Given the description of an element on the screen output the (x, y) to click on. 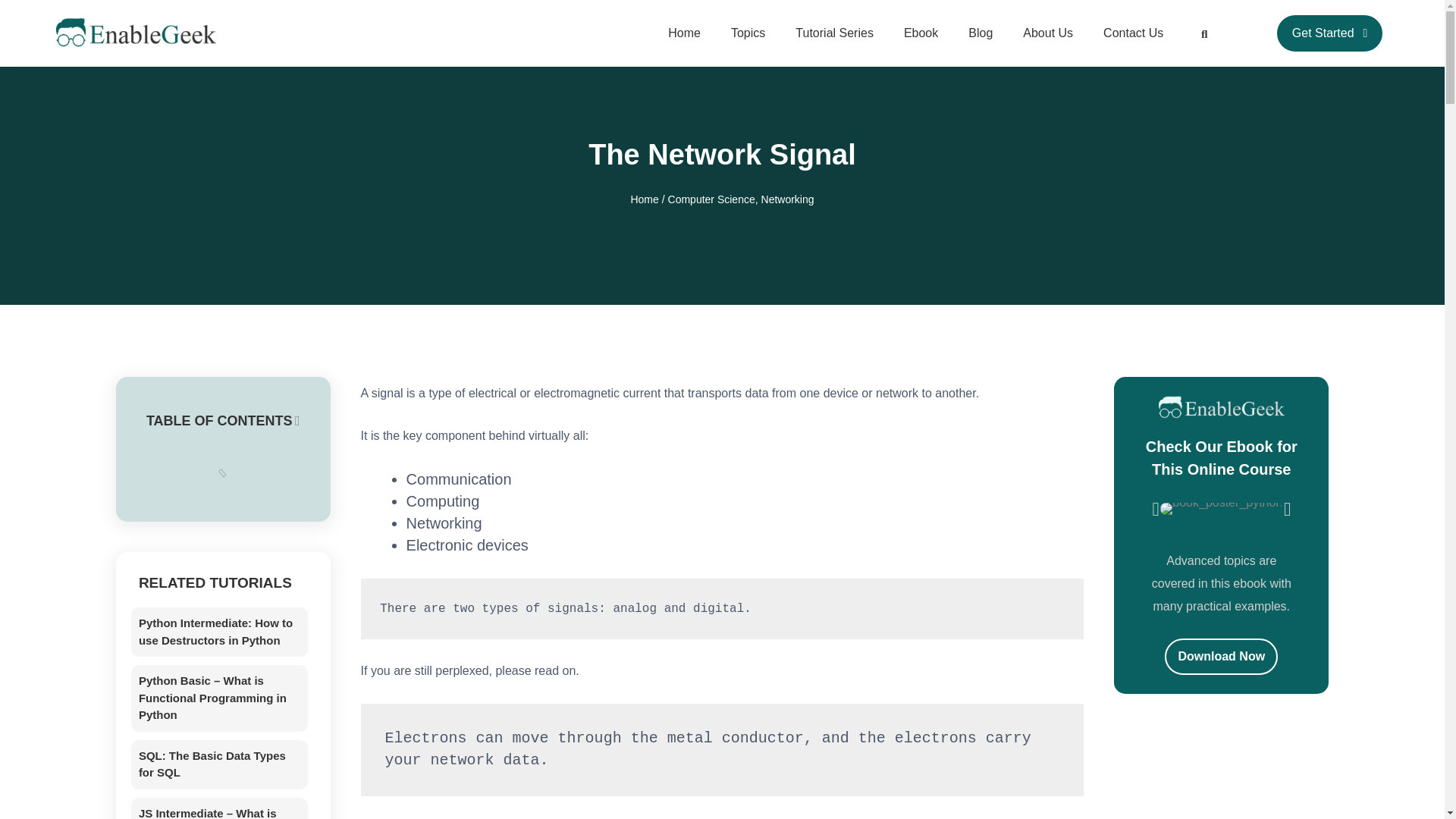
Topics (748, 33)
Tutorial Series (834, 33)
Home (684, 33)
